Given the description of an element on the screen output the (x, y) to click on. 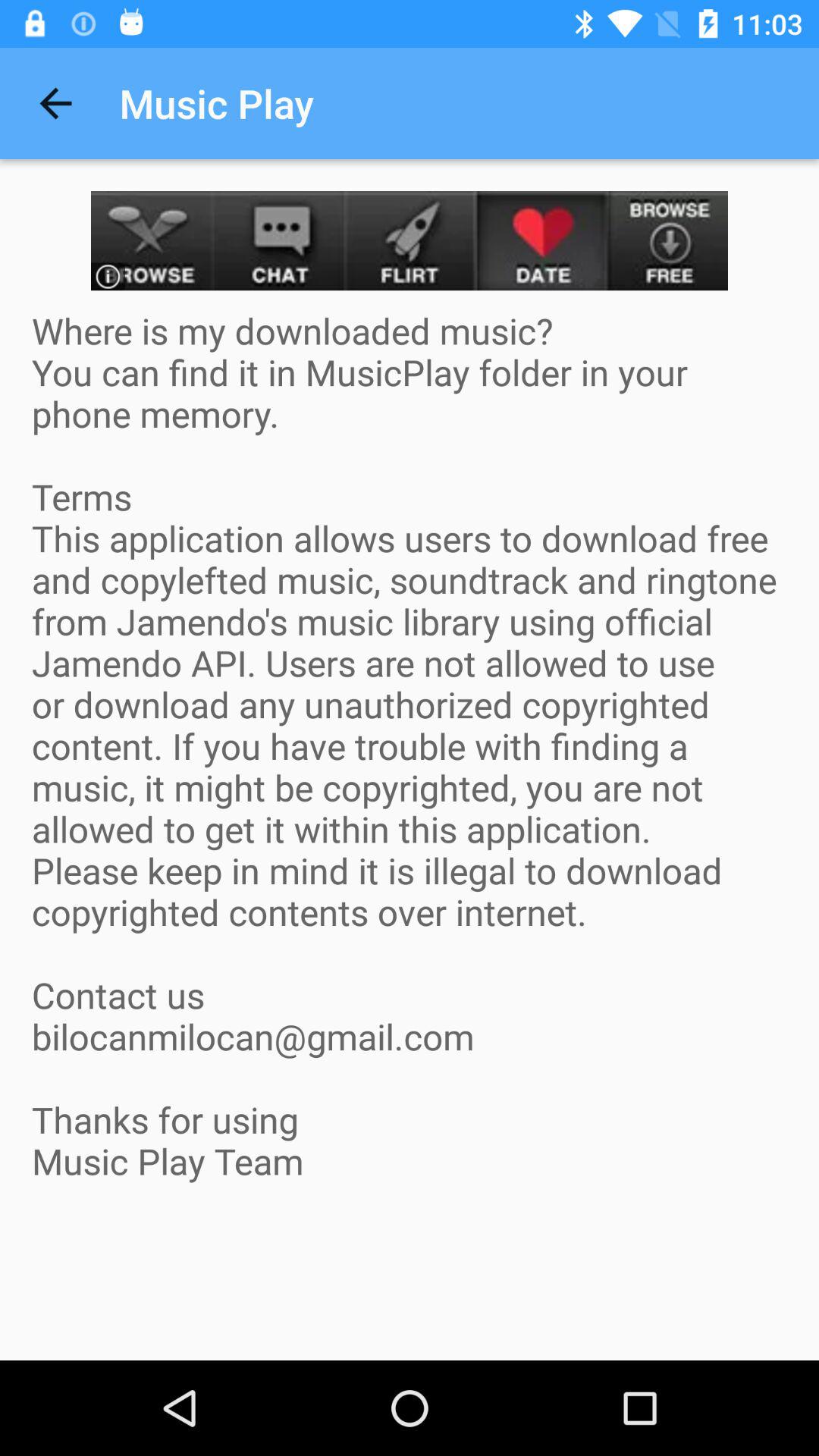
open advertisement (409, 240)
